Given the description of an element on the screen output the (x, y) to click on. 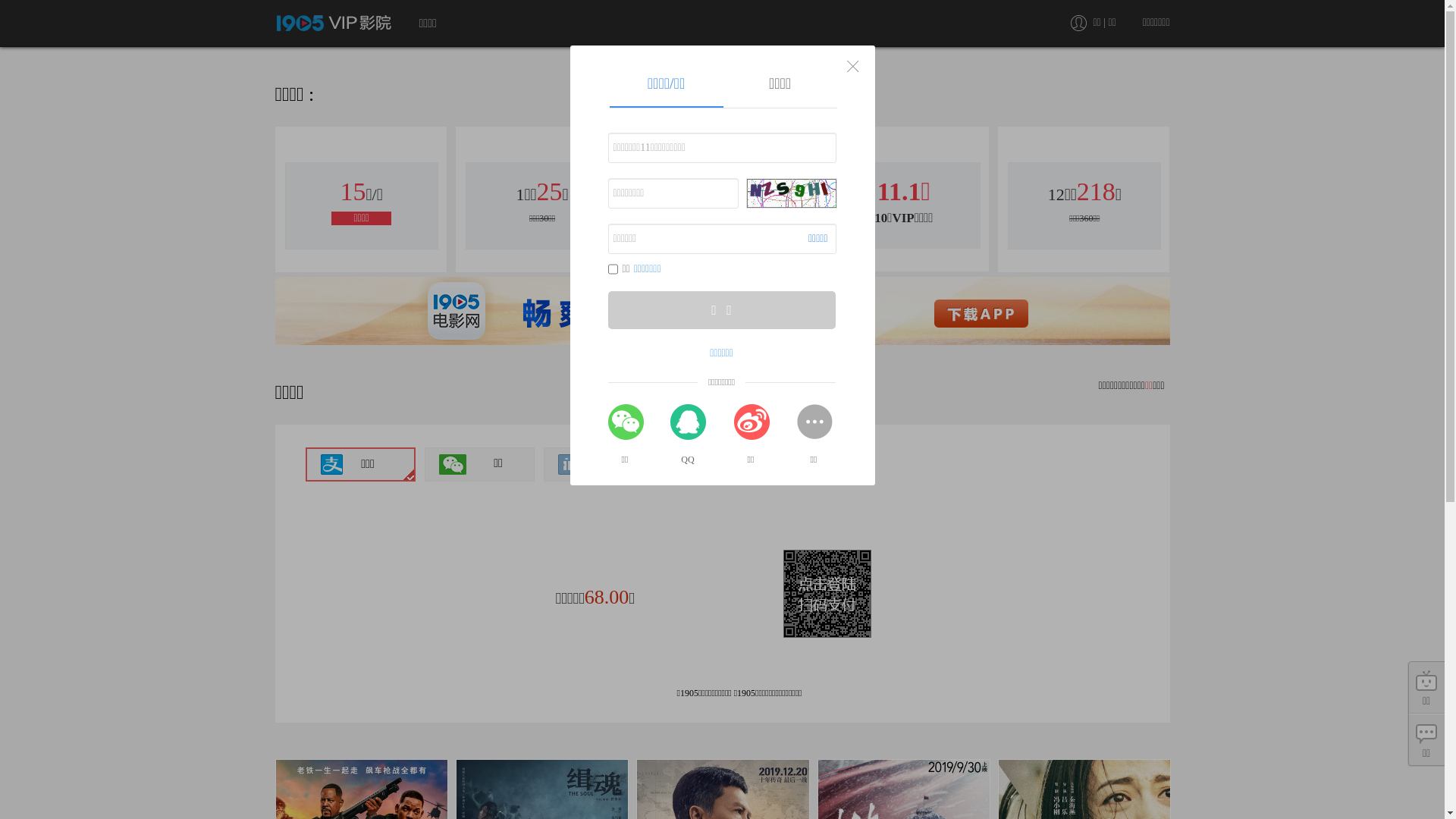
QQ Element type: text (688, 431)
